Given the description of an element on the screen output the (x, y) to click on. 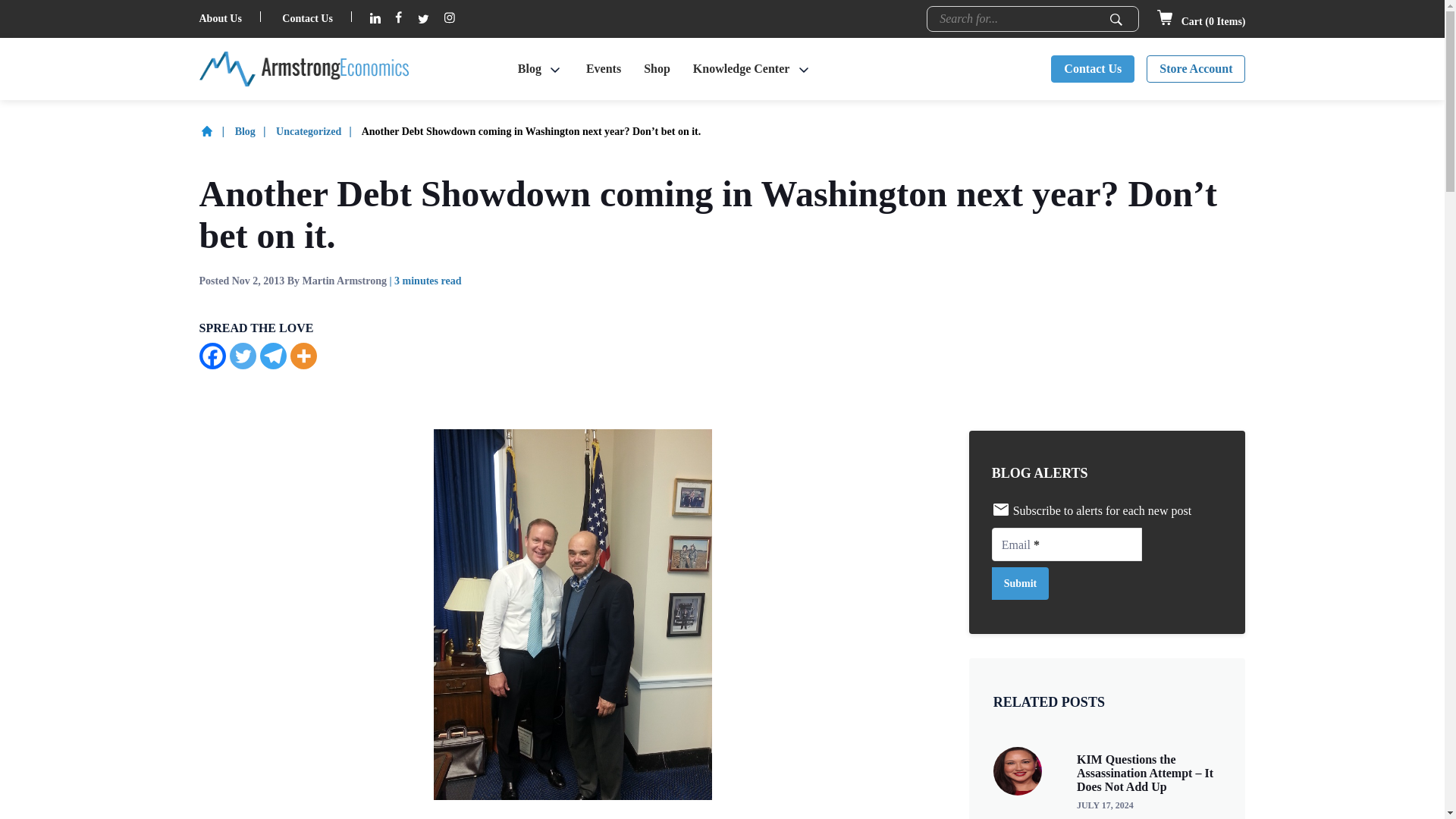
Facebook (211, 356)
Telegram (272, 356)
Home (214, 131)
About Us (219, 18)
Uncategorized (317, 131)
Events (603, 69)
Contact Us (307, 18)
Follow on Instagram (449, 19)
Click to see more social options (302, 356)
Armstrong Economics (302, 68)
Submit (1116, 19)
Envelop (1000, 509)
Shop (656, 69)
Blog (529, 69)
Submit (1116, 19)
